Given the description of an element on the screen output the (x, y) to click on. 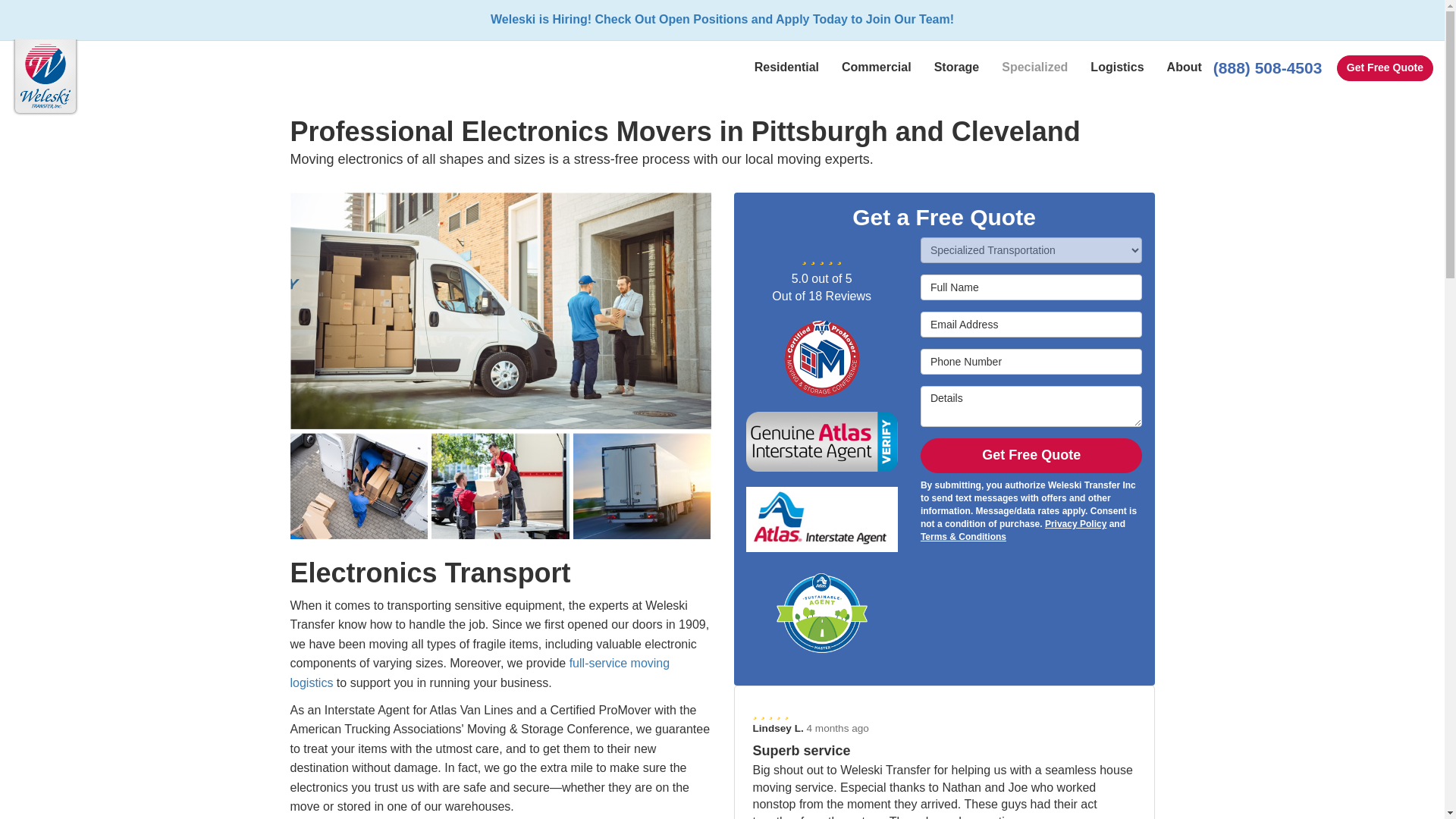
Commercial (876, 67)
Storage (957, 67)
Residential (785, 67)
Get Free Quote (1384, 68)
About (1184, 67)
5 Stars (943, 712)
Get Free Quote (1384, 68)
Specialized (1034, 67)
Logistics (1116, 67)
